Given the description of an element on the screen output the (x, y) to click on. 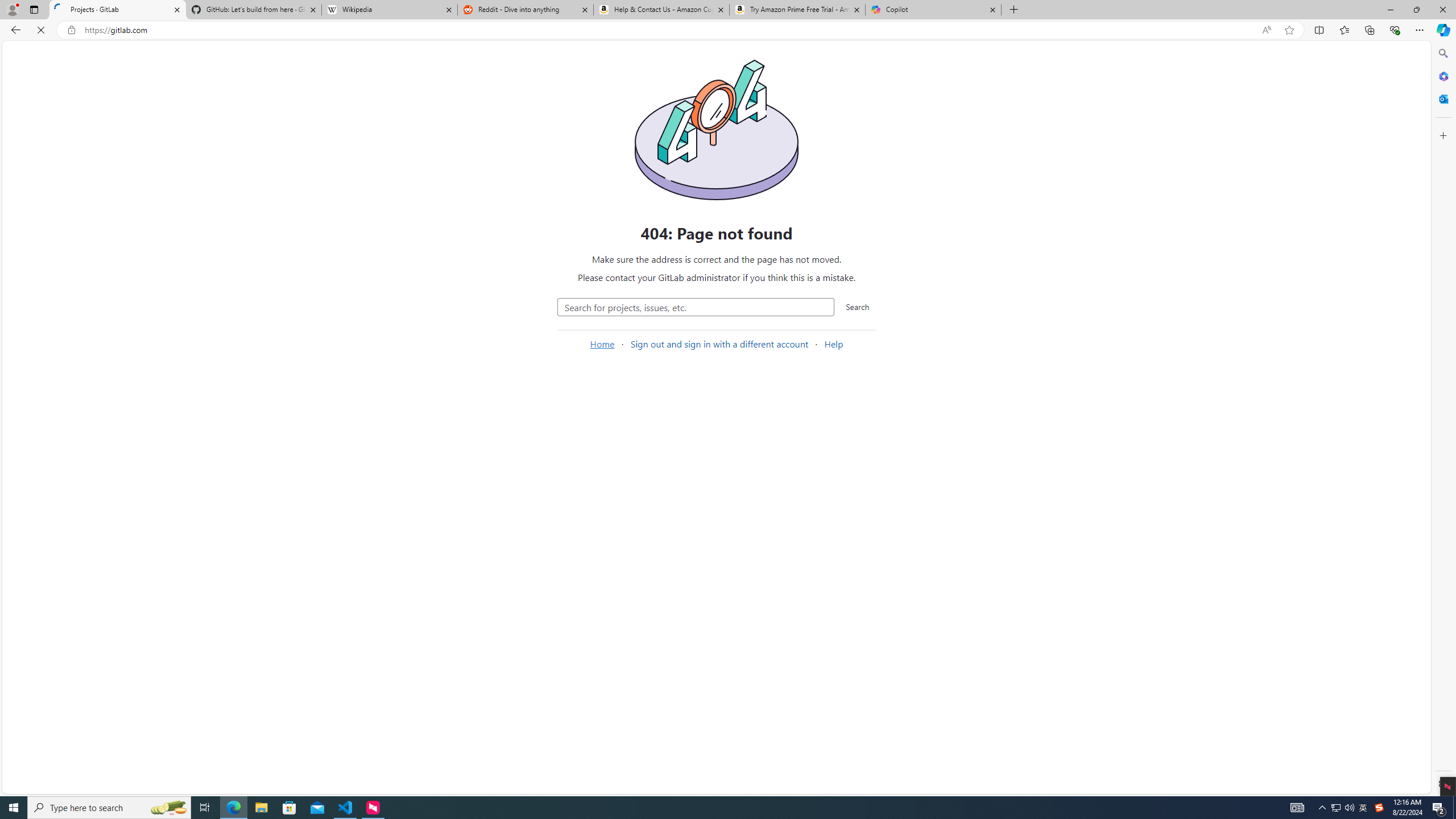
1 / 1 (477, 294)
Class: s16 (494, 295)
Starred 0 (510, 221)
Help (25, 782)
Groups (74, 165)
Name (1095, 253)
Reddit - Dive into anything (525, 9)
Inactive (606, 221)
Issues (74, 185)
Try Amazon Prime Free Trial - Amazon Customer Service (797, 9)
Operations (74, 340)
